Given the description of an element on the screen output the (x, y) to click on. 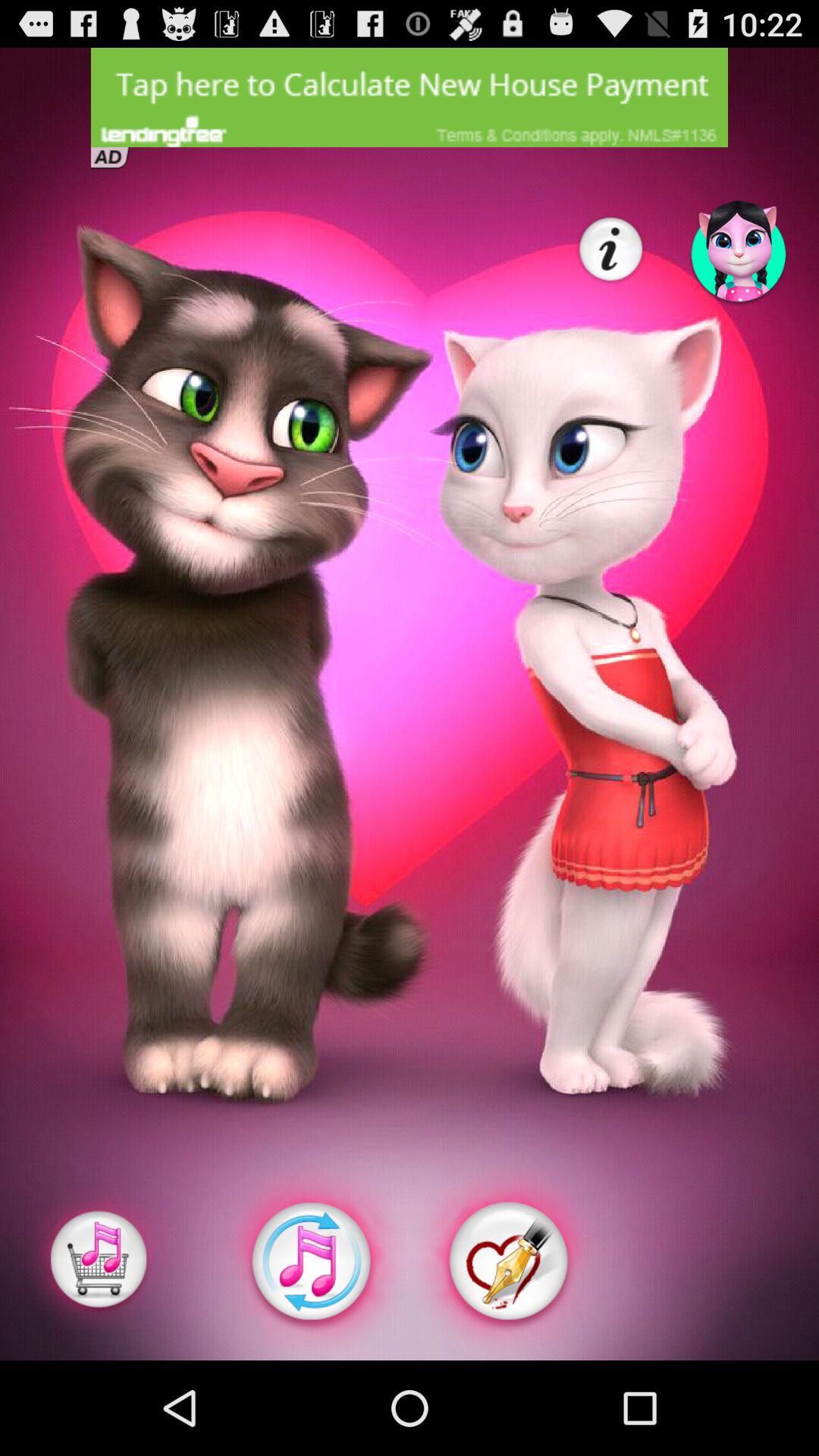
play music (310, 1261)
